Given the description of an element on the screen output the (x, y) to click on. 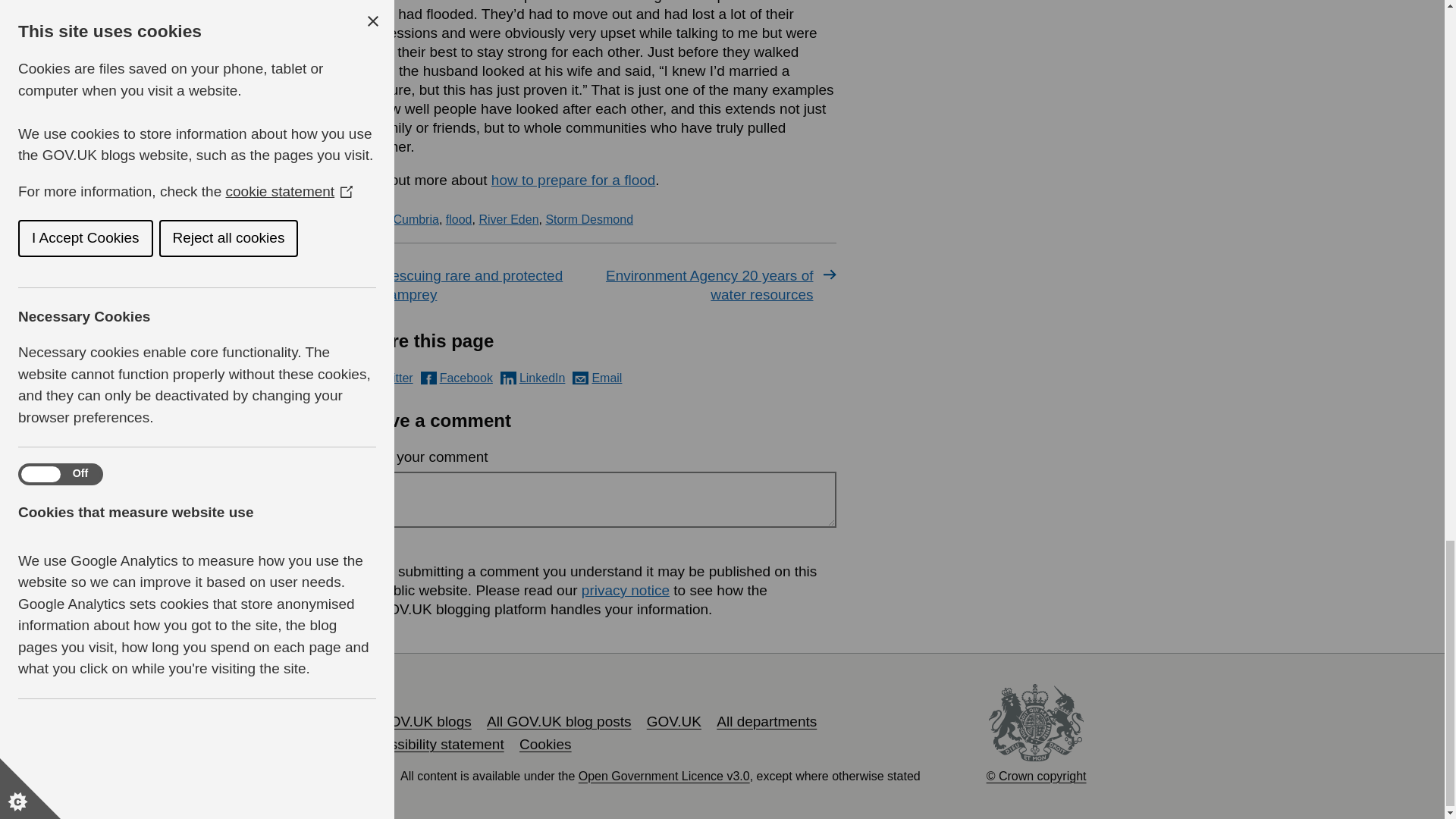
Email (596, 377)
how to prepare for a flood (574, 179)
flood (458, 219)
Storm Desmond (588, 219)
Facebook (456, 377)
River Eden (508, 219)
Twitter (385, 377)
Cumbria (415, 219)
privacy notice (624, 590)
Environment Agency 20 years of water resources (718, 284)
Rescuing rare and protected Lamprey (475, 284)
LinkedIn (533, 377)
